Given the description of an element on the screen output the (x, y) to click on. 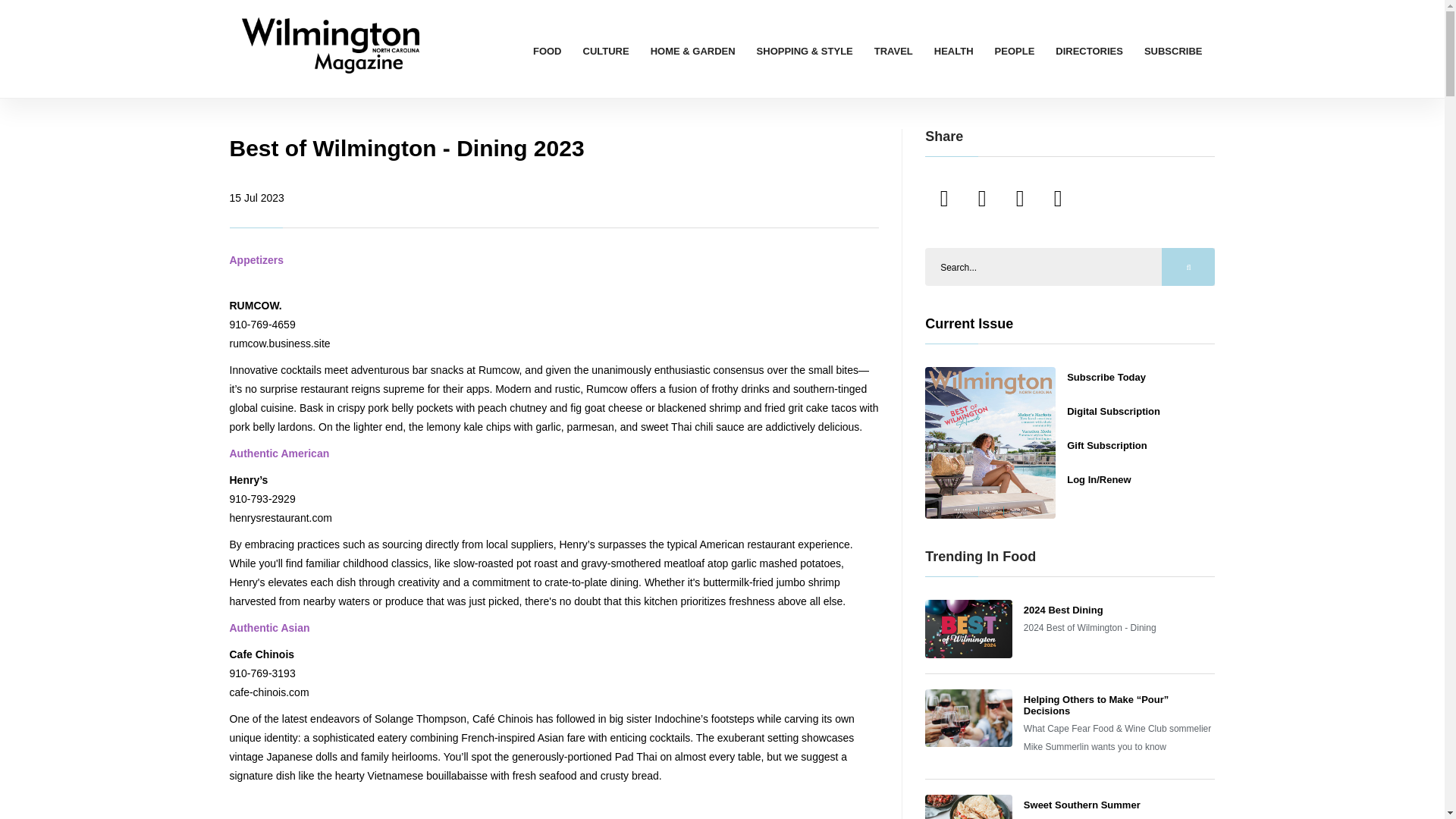
Subscribe Today (1106, 377)
CULTURE (606, 50)
Current Issue (968, 323)
PEOPLE (1015, 50)
TRAVEL (893, 50)
SUBSCRIBE (1173, 50)
Gift Subscription (1107, 445)
FOOD (547, 50)
Digital Subscription (1113, 410)
HEALTH (953, 50)
DIRECTORIES (1088, 50)
